Given the description of an element on the screen output the (x, y) to click on. 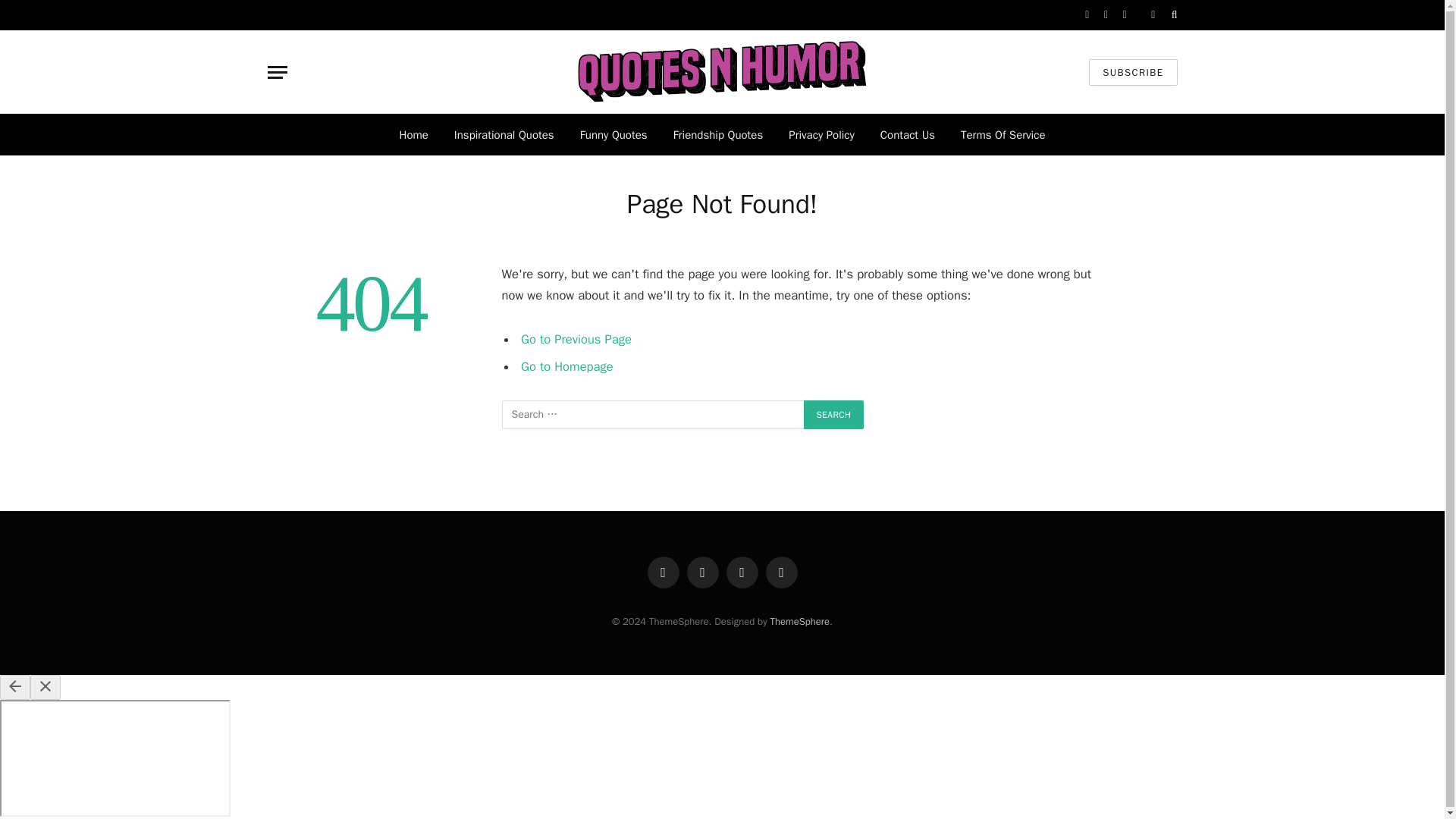
Pinterest (781, 572)
Go to Homepage (566, 365)
Instagram (742, 572)
SUBSCRIBE (1132, 71)
Inspirational Quotes (504, 134)
ThemeSphere (799, 621)
Friendship Quotes (718, 134)
Funny Quotes (614, 134)
Search (833, 414)
Search (833, 414)
Search (833, 414)
Contact Us (907, 134)
Terms Of Service (1002, 134)
Quotes Memes and Humor Stuff (722, 71)
Privacy Policy (821, 134)
